Given the description of an element on the screen output the (x, y) to click on. 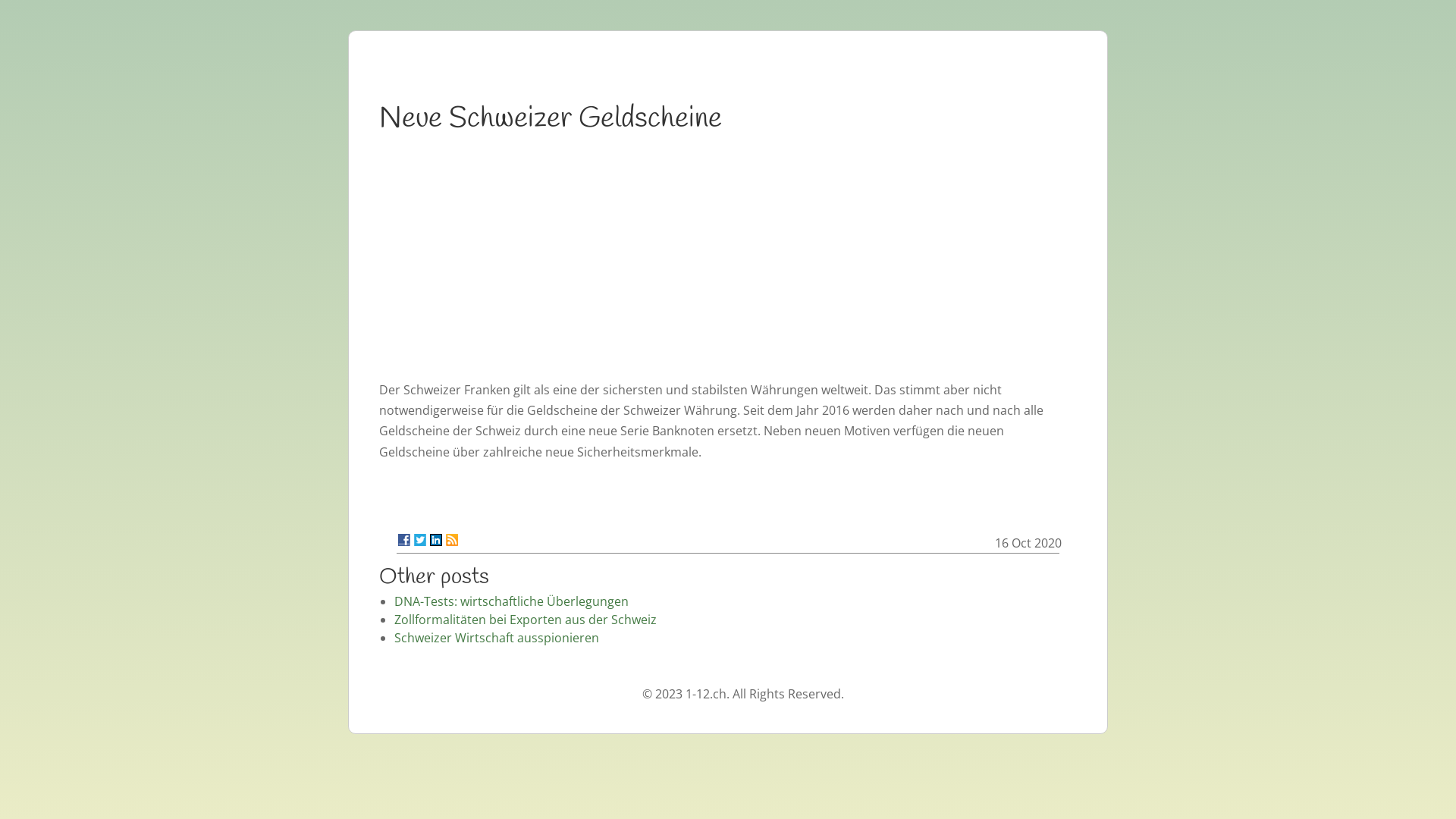
Twitter Element type: hover (420, 539)
Facebook Element type: hover (404, 539)
RSS Element type: hover (451, 539)
LinkedIn Element type: hover (435, 539)
Schweizer Wirtschaft ausspionieren Element type: text (496, 637)
